Given the description of an element on the screen output the (x, y) to click on. 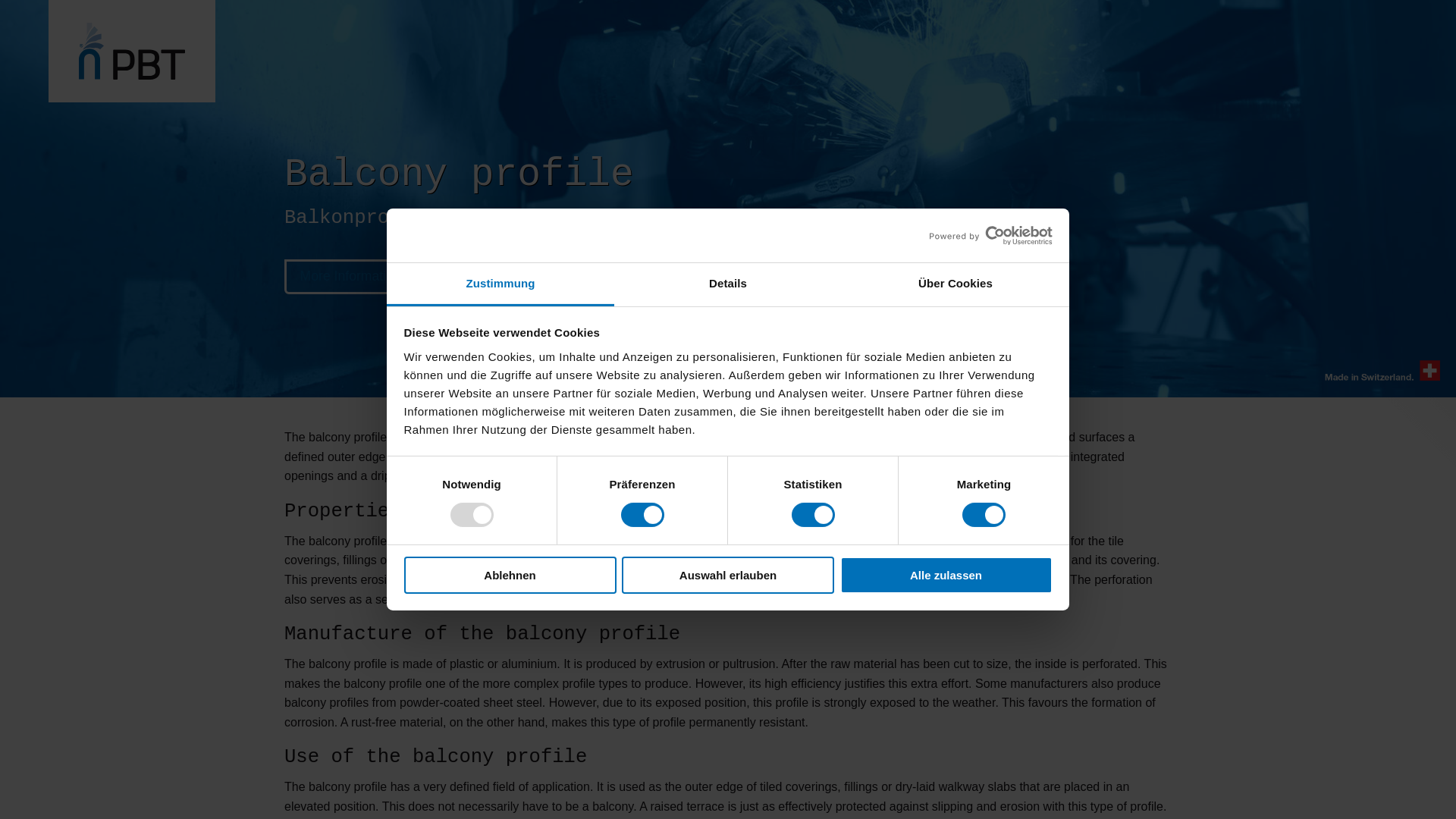
Details (727, 284)
Ablehnen (509, 574)
Zustimmung (500, 284)
